Given the description of an element on the screen output the (x, y) to click on. 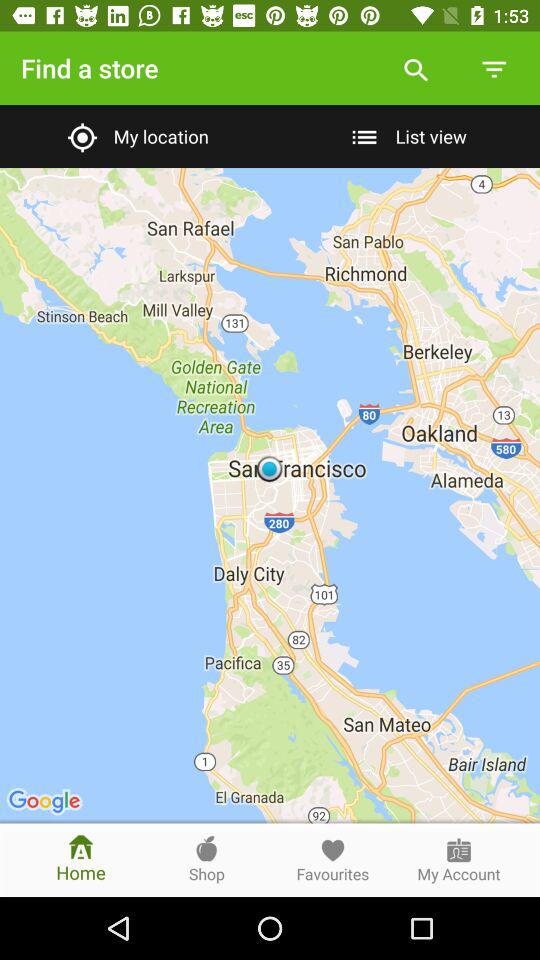
launch item next to my location item (404, 136)
